Given the description of an element on the screen output the (x, y) to click on. 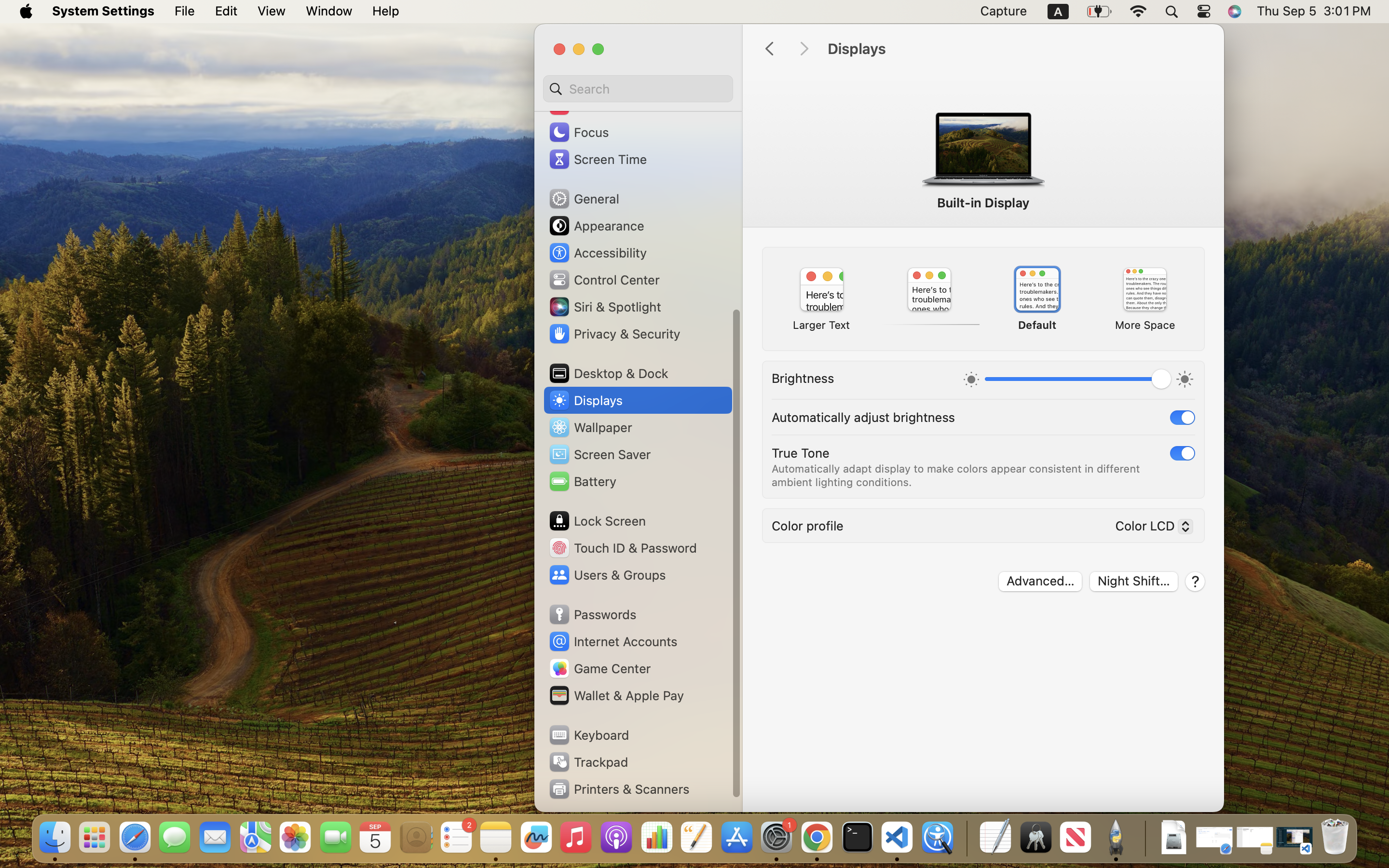
True Tone Element type: AXStaticText (800, 452)
Passwords Element type: AXStaticText (591, 613)
Users & Groups Element type: AXStaticText (606, 574)
0.4285714328289032 Element type: AXDockItem (965, 837)
Trackpad Element type: AXStaticText (587, 761)
